Given the description of an element on the screen output the (x, y) to click on. 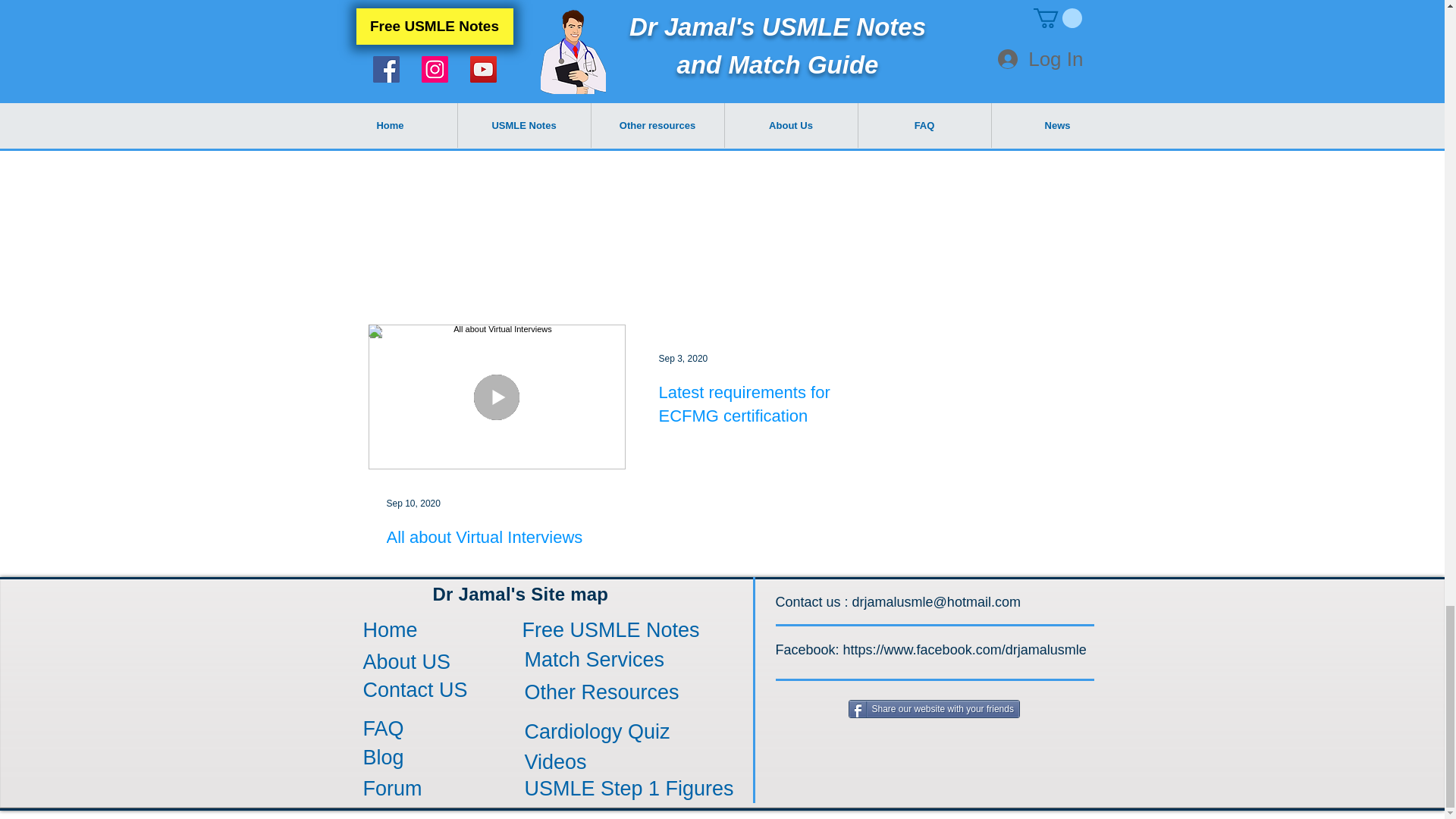
Facebook Like (580, 164)
